Given the description of an element on the screen output the (x, y) to click on. 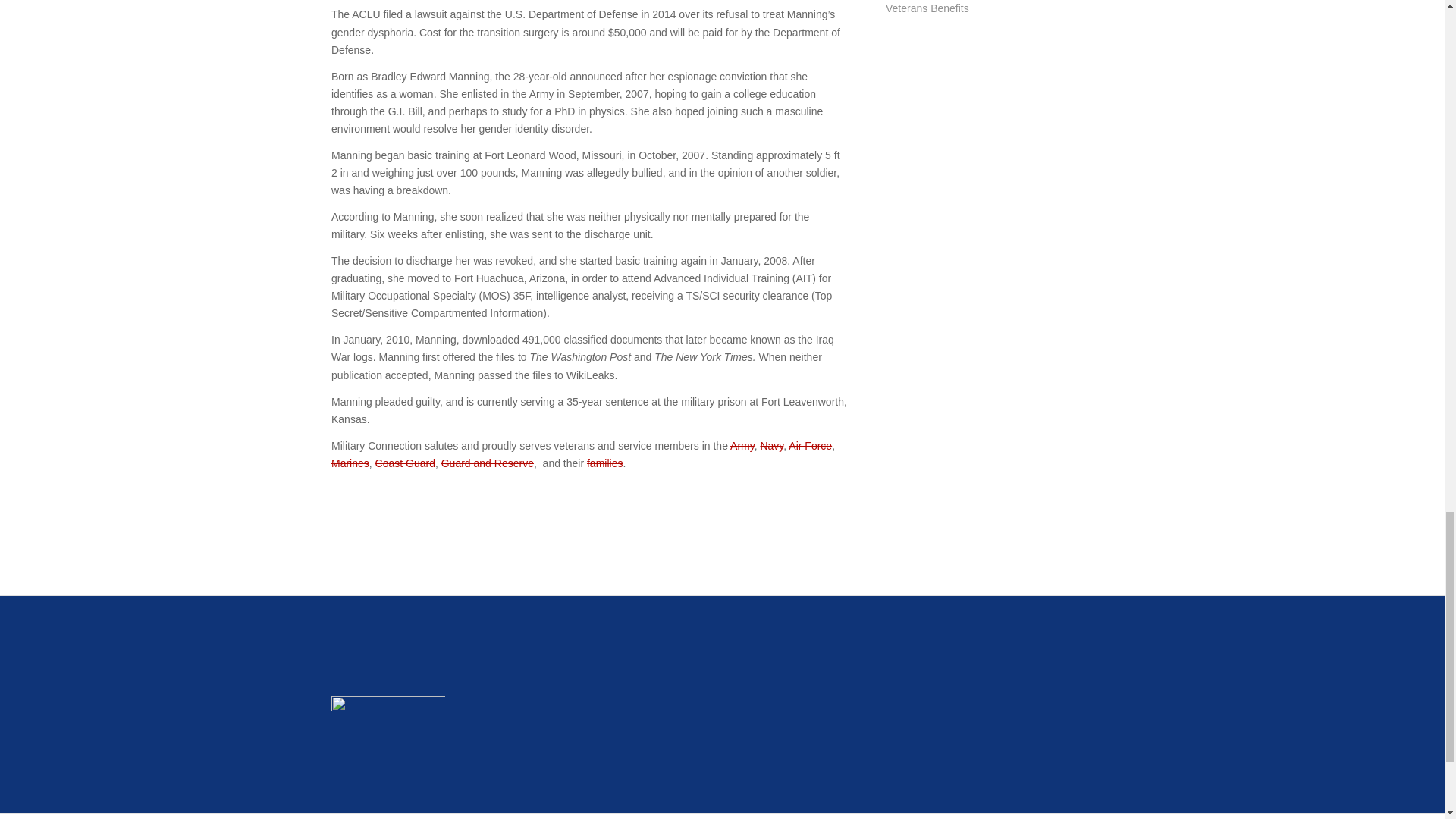
families (604, 463)
Army (742, 445)
Coast Guard (405, 463)
Guard and Reserve (487, 463)
Navy (771, 445)
Marines (350, 463)
Air Force (810, 445)
